Given the description of an element on the screen output the (x, y) to click on. 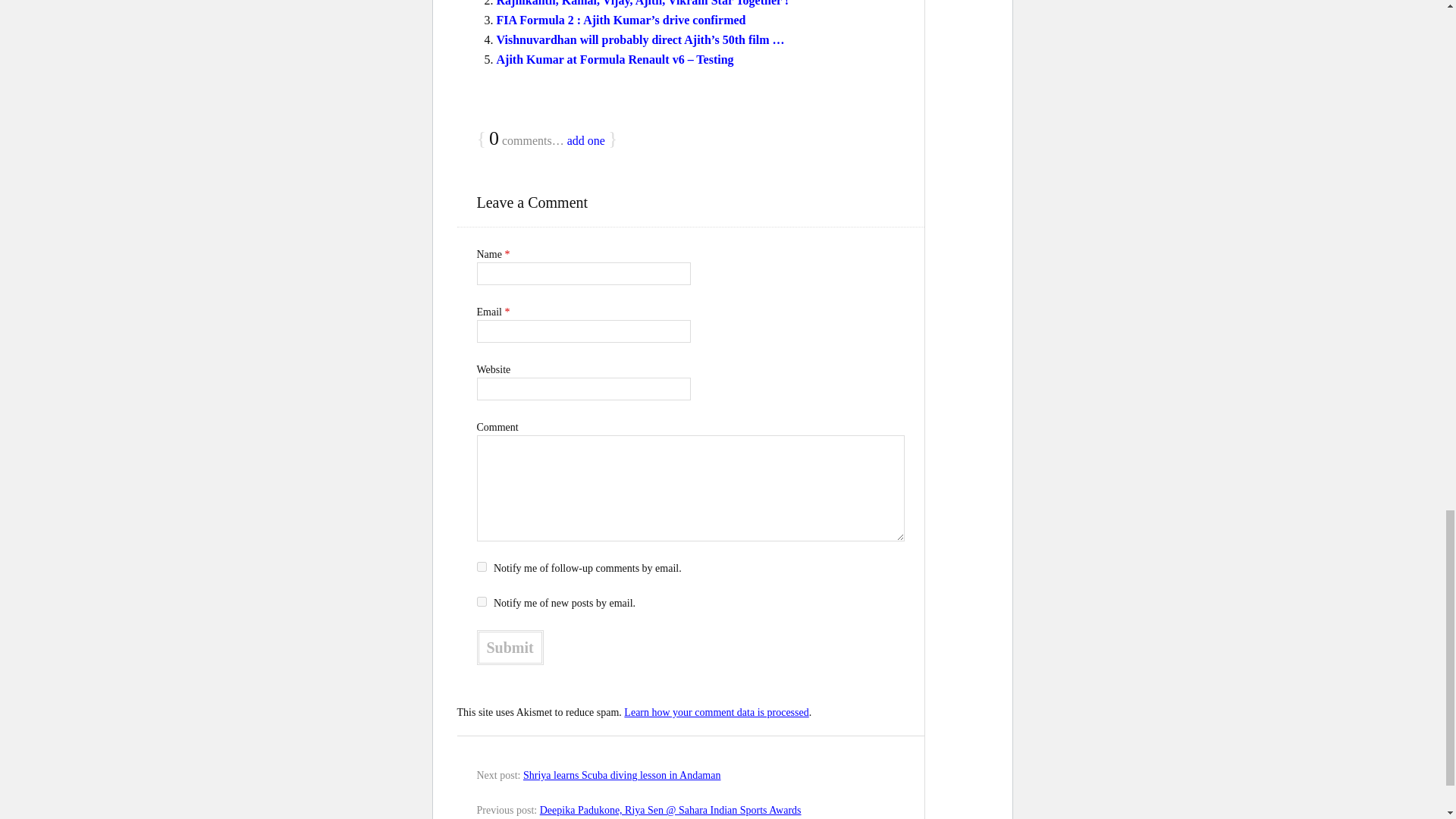
Submit (509, 647)
add one (586, 140)
subscribe (481, 601)
Required (506, 254)
Required (506, 311)
subscribe (481, 566)
Submit (509, 647)
